Given the description of an element on the screen output the (x, y) to click on. 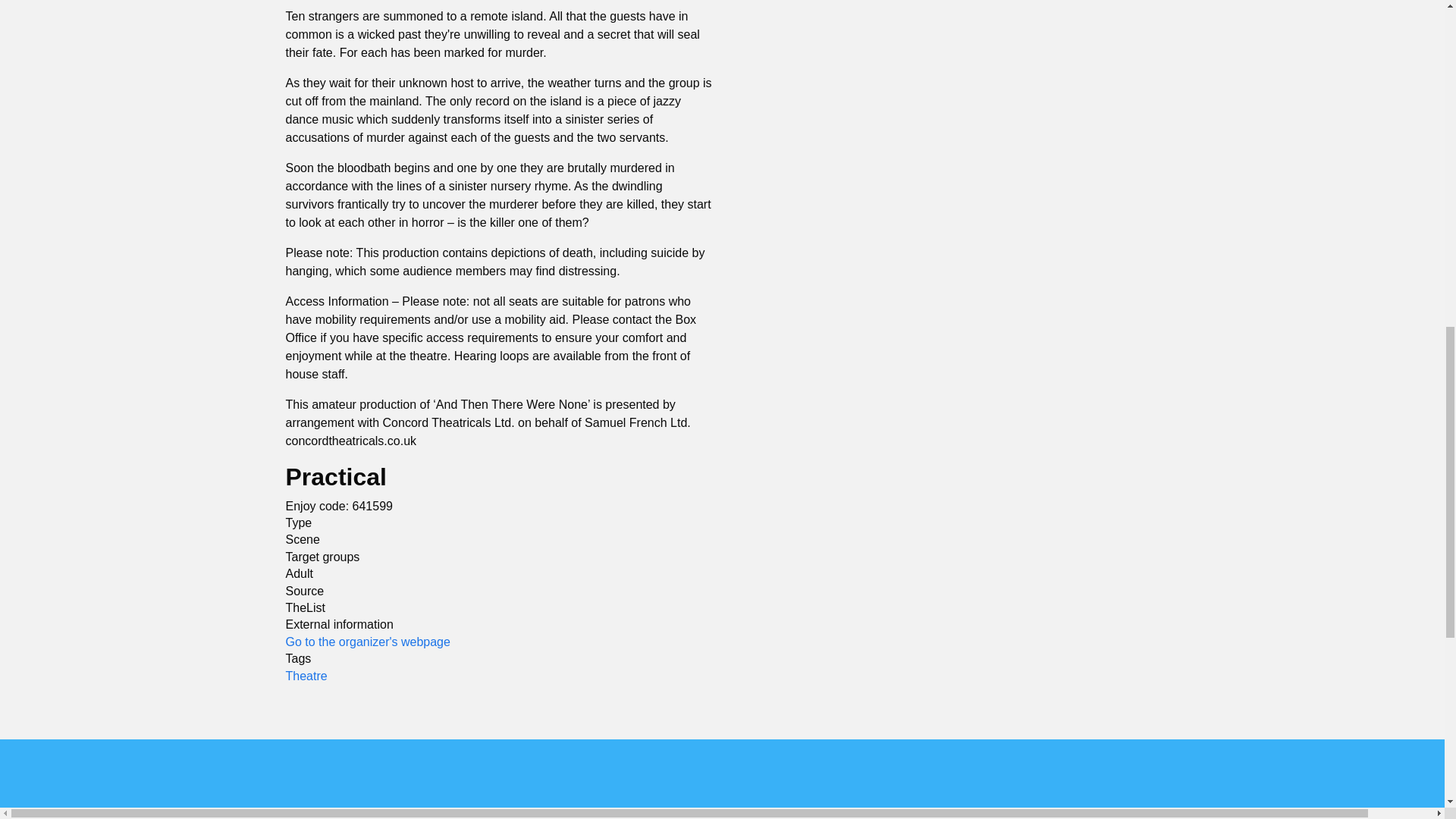
Go to the organizer's webpage (367, 641)
Theatre (305, 675)
Activities tagged withTheatre (305, 675)
